Given the description of an element on the screen output the (x, y) to click on. 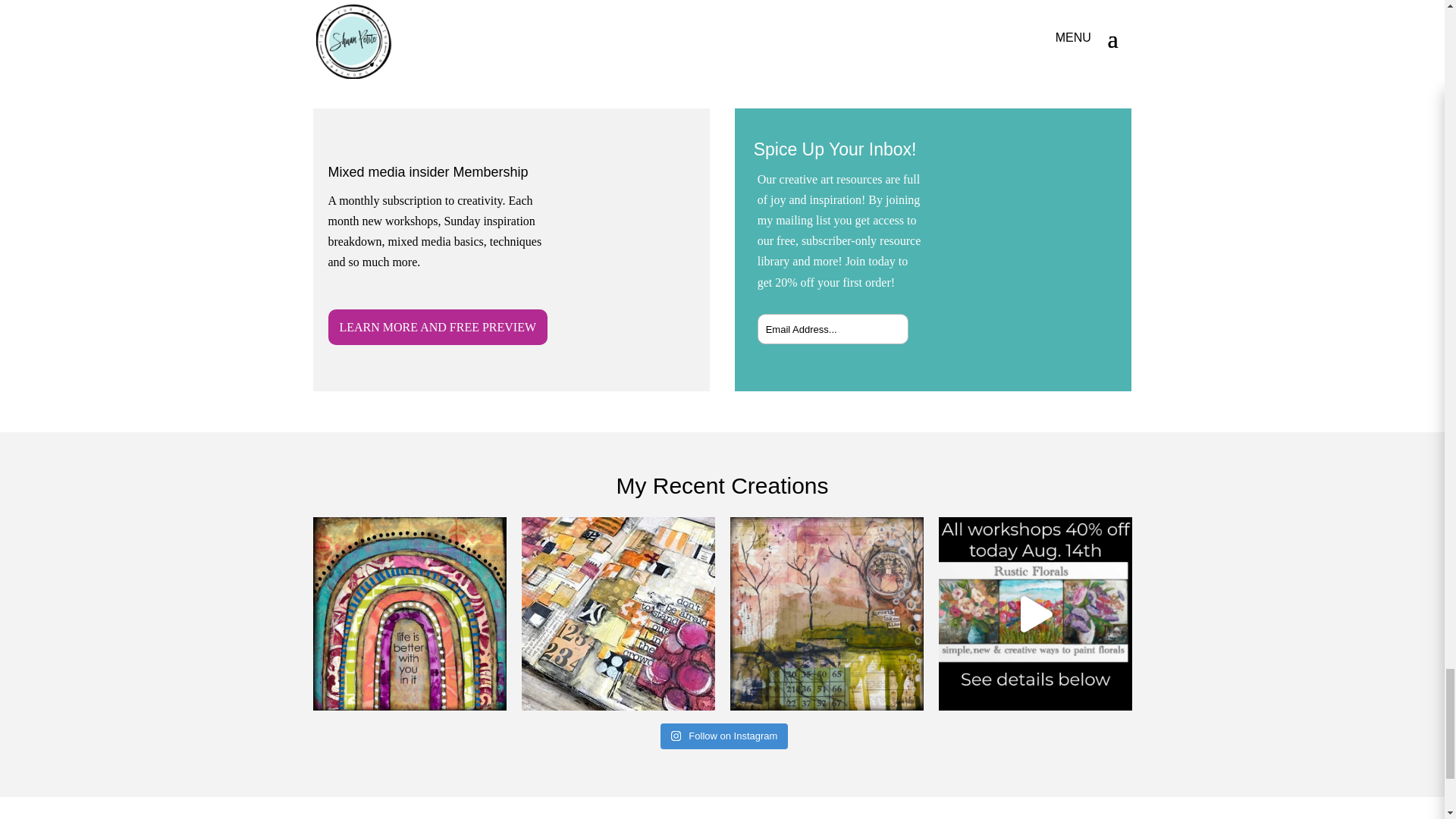
LEARN MORE AND FREE PREVIEW (437, 326)
Submit (880, 322)
Mixed media insider Membership (427, 171)
Submit (880, 322)
Email (1038, 226)
